Given the description of an element on the screen output the (x, y) to click on. 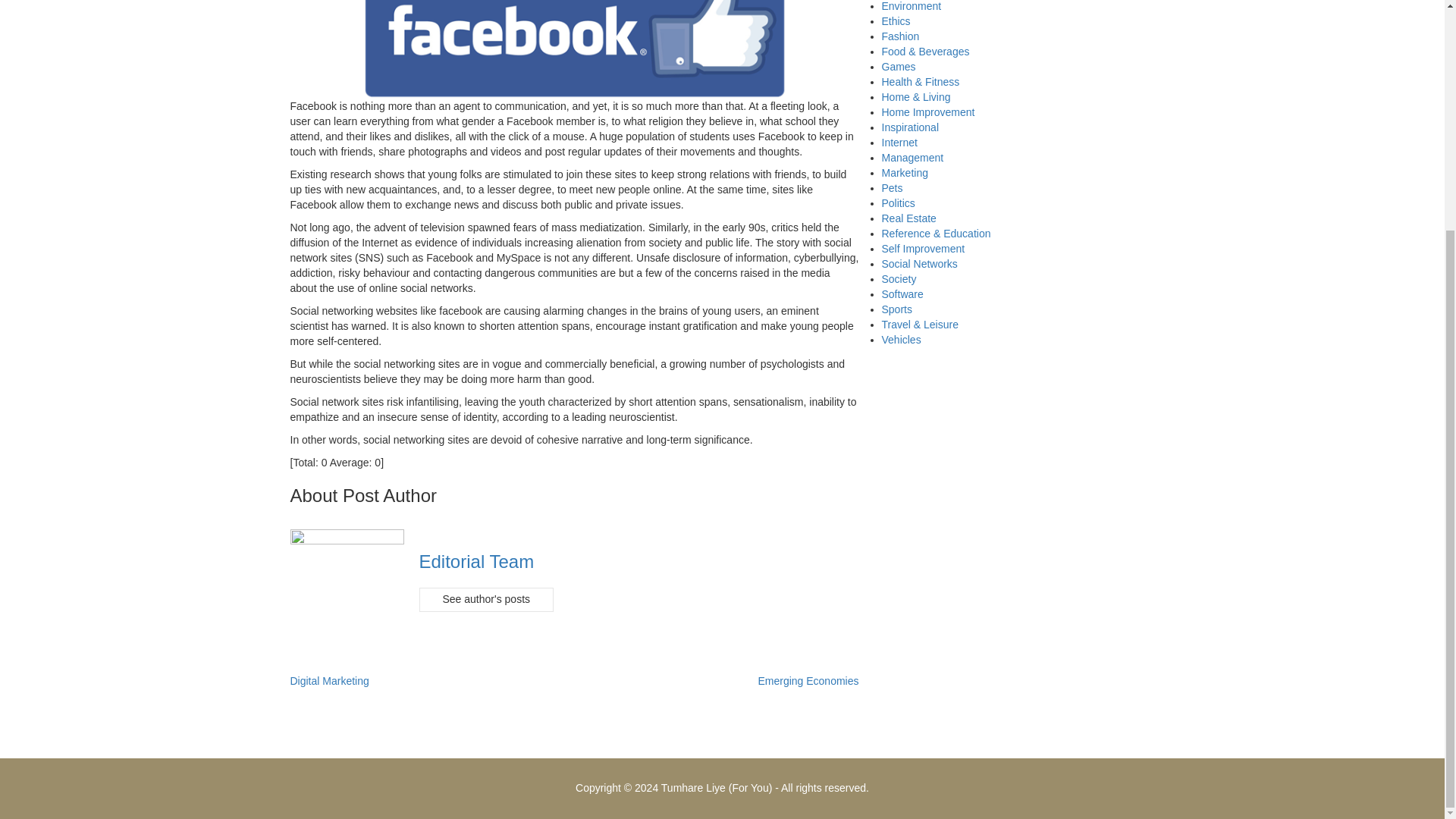
Inspirational (909, 127)
See author's posts (486, 599)
Society (897, 278)
Management (911, 157)
Ethics (895, 21)
Environment (910, 6)
Sports (895, 309)
Social Networks (918, 263)
Software (901, 294)
Fashion (899, 36)
Editorial Team (476, 561)
Games (897, 66)
Marketing (903, 173)
Emerging Economies (808, 680)
Home Improvement (927, 111)
